Given the description of an element on the screen output the (x, y) to click on. 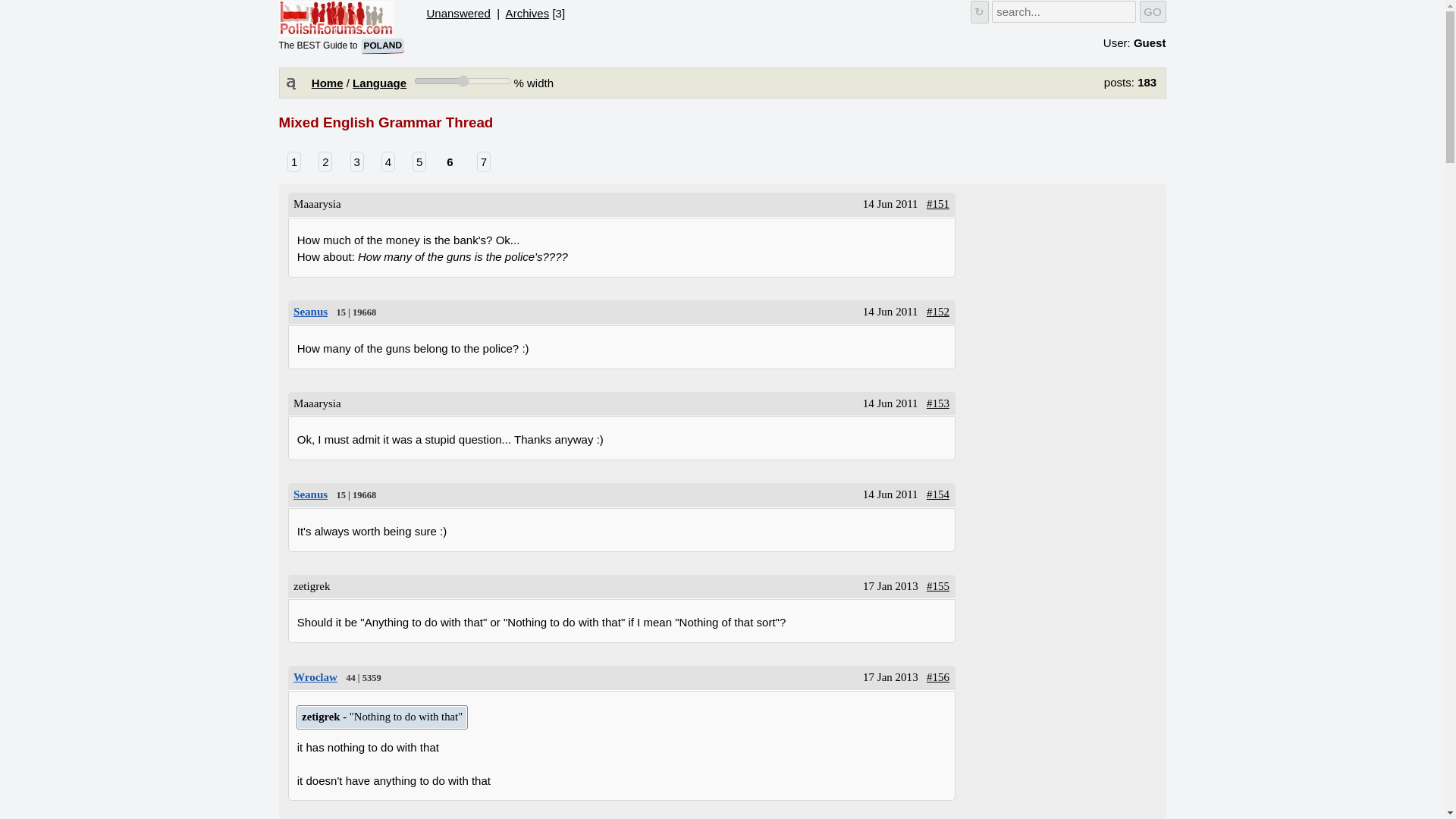
Wroclaw (315, 676)
60 (462, 80)
Archives (527, 12)
Home (327, 82)
PolishForums.com (310, 494)
Language (336, 18)
Unanswered (379, 82)
zetigrek (310, 311)
